Given the description of an element on the screen output the (x, y) to click on. 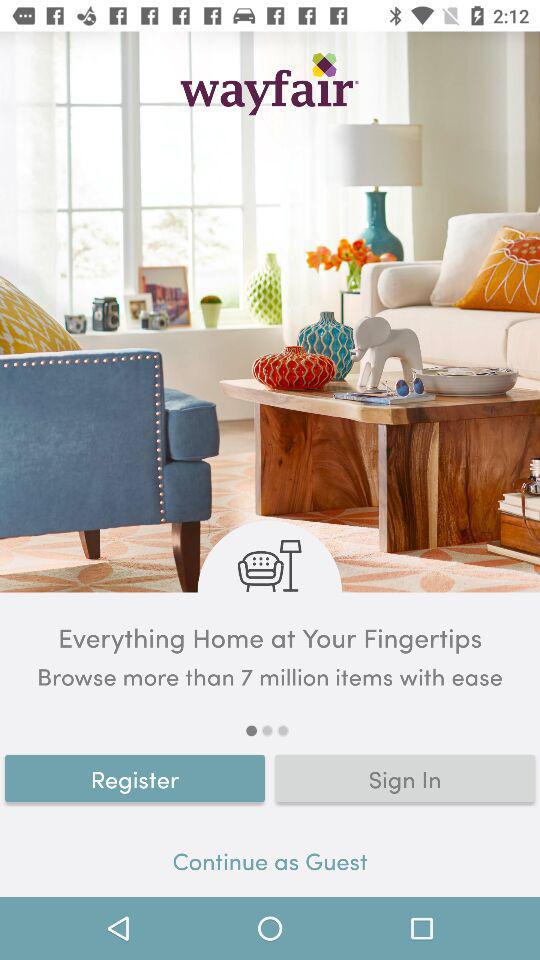
choose the item at the bottom left corner (135, 778)
